Given the description of an element on the screen output the (x, y) to click on. 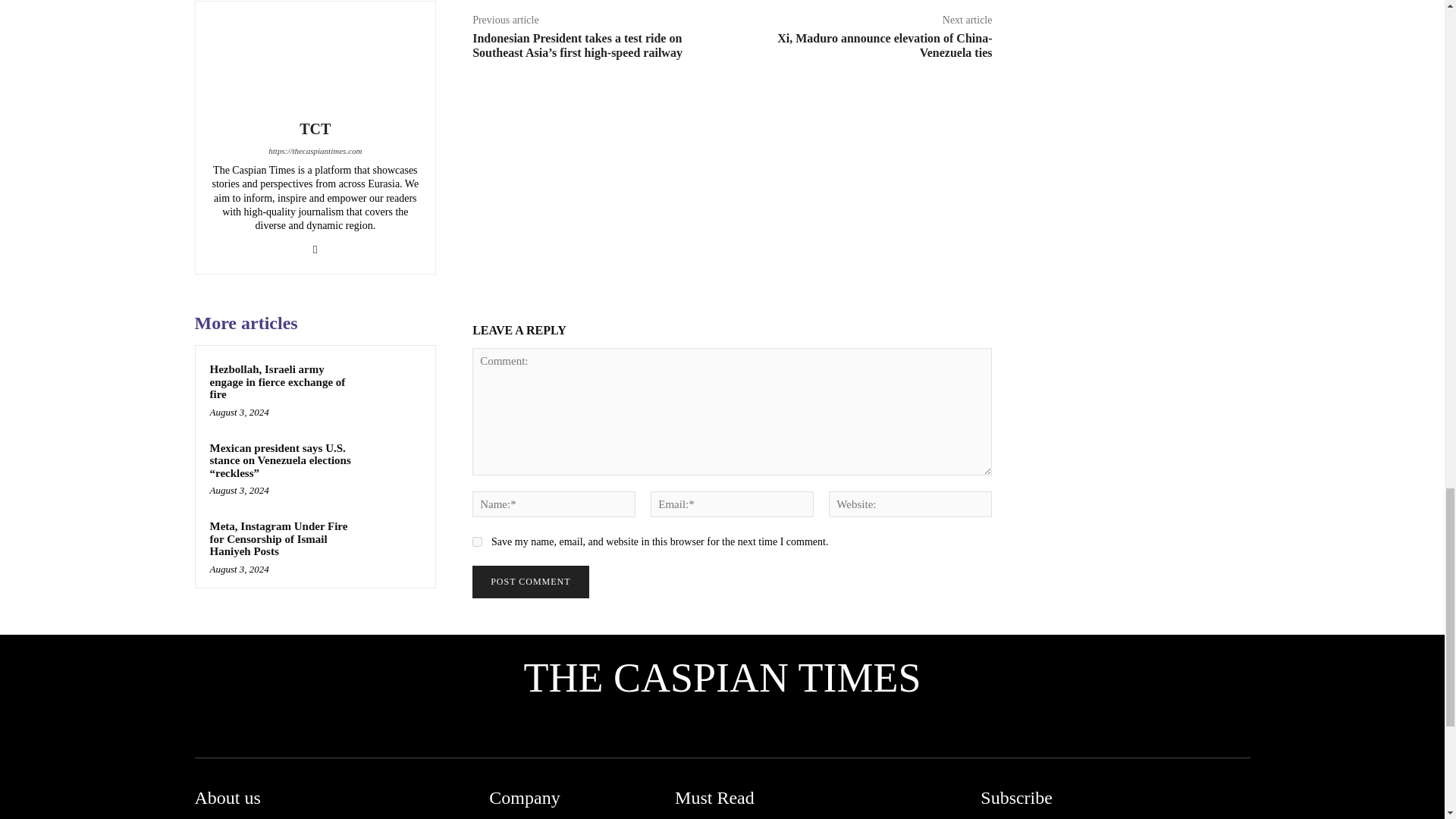
Post Comment (529, 581)
yes (476, 542)
